Given the description of an element on the screen output the (x, y) to click on. 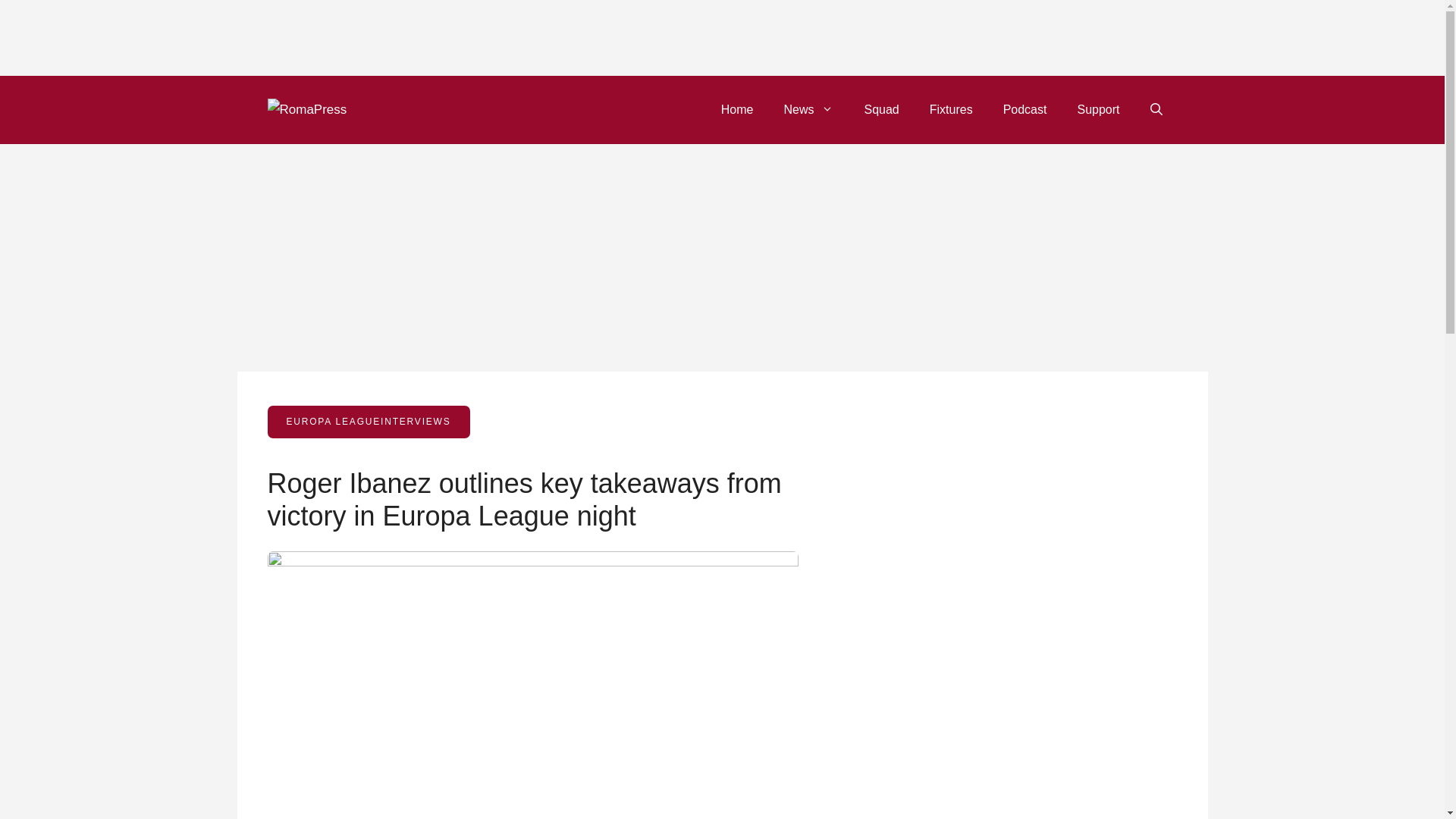
Squad (881, 109)
Fixtures (951, 109)
Support (1097, 109)
Home (737, 109)
News (808, 109)
Podcast (1025, 109)
